Given the description of an element on the screen output the (x, y) to click on. 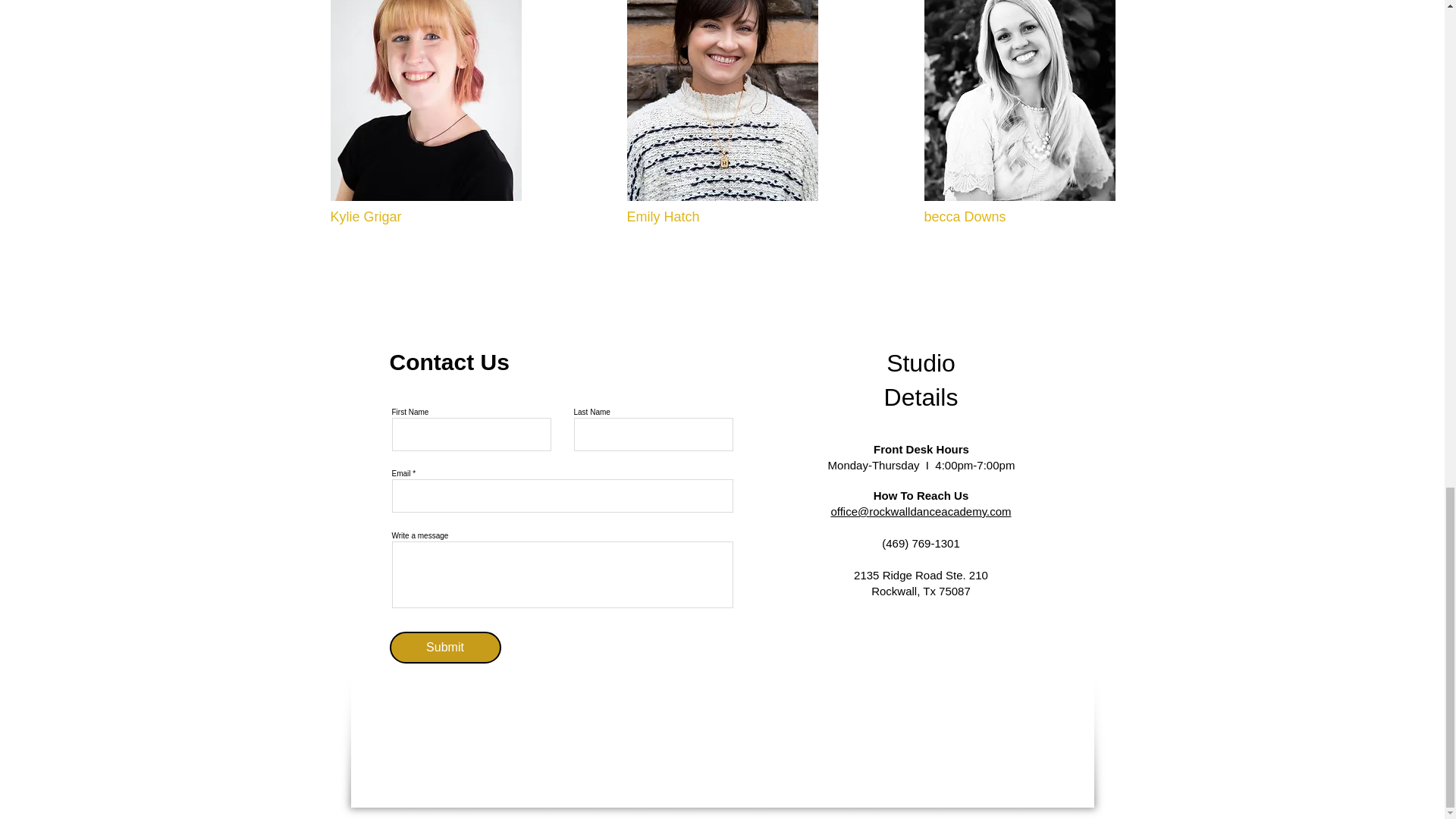
Submit (445, 647)
